Given the description of an element on the screen output the (x, y) to click on. 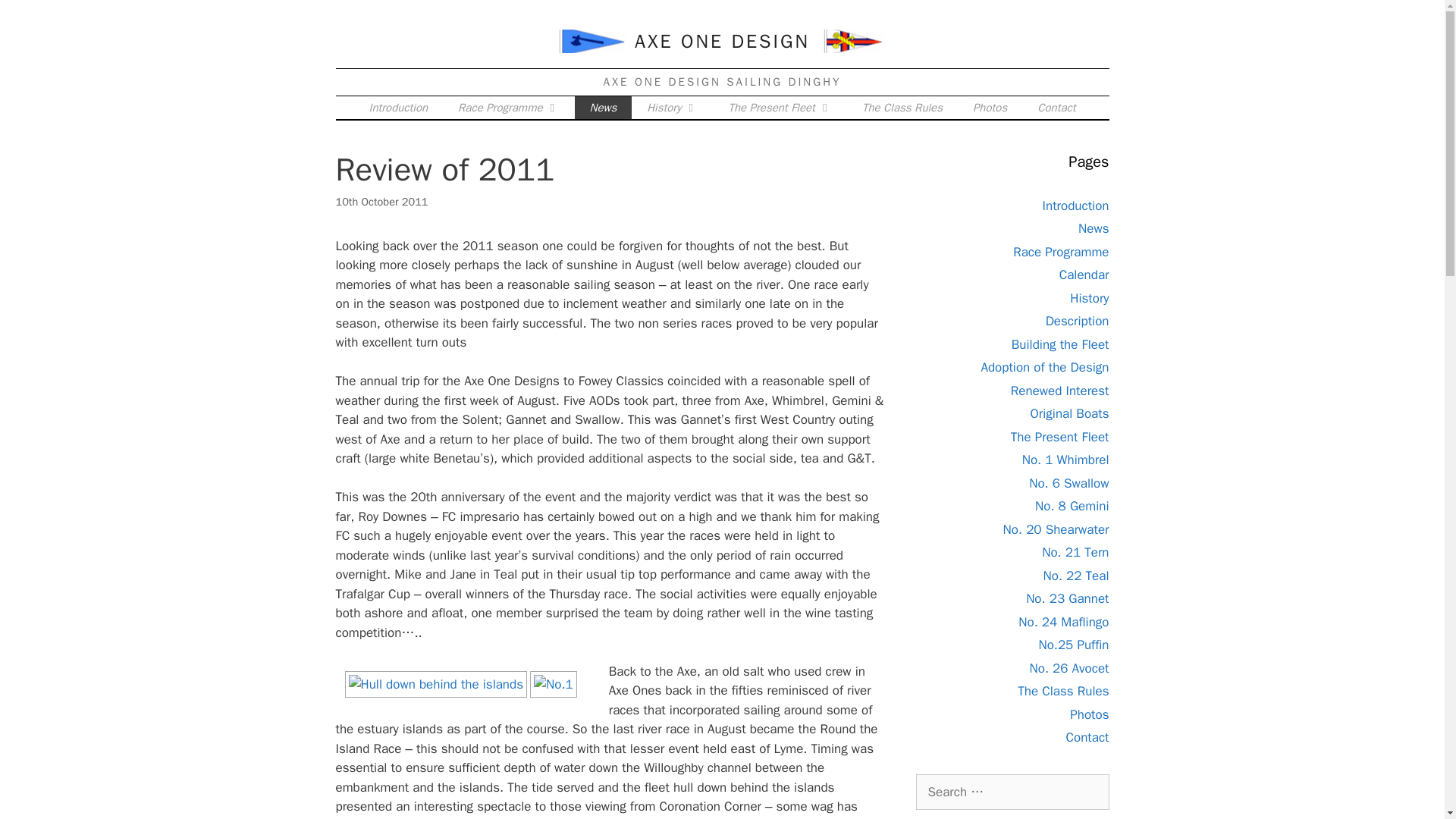
Calendar (1084, 274)
Search for: (1012, 791)
The Class Rules (902, 106)
Photos (990, 106)
News (603, 106)
History (1089, 297)
Race Programme (1060, 252)
The Present Fleet (779, 106)
Contact (1056, 106)
Race Programme (507, 106)
AXE ONE DESIGN (721, 41)
Hull down behind the islands (435, 684)
History (672, 106)
Introduction (1075, 204)
Introduction (397, 106)
